Given the description of an element on the screen output the (x, y) to click on. 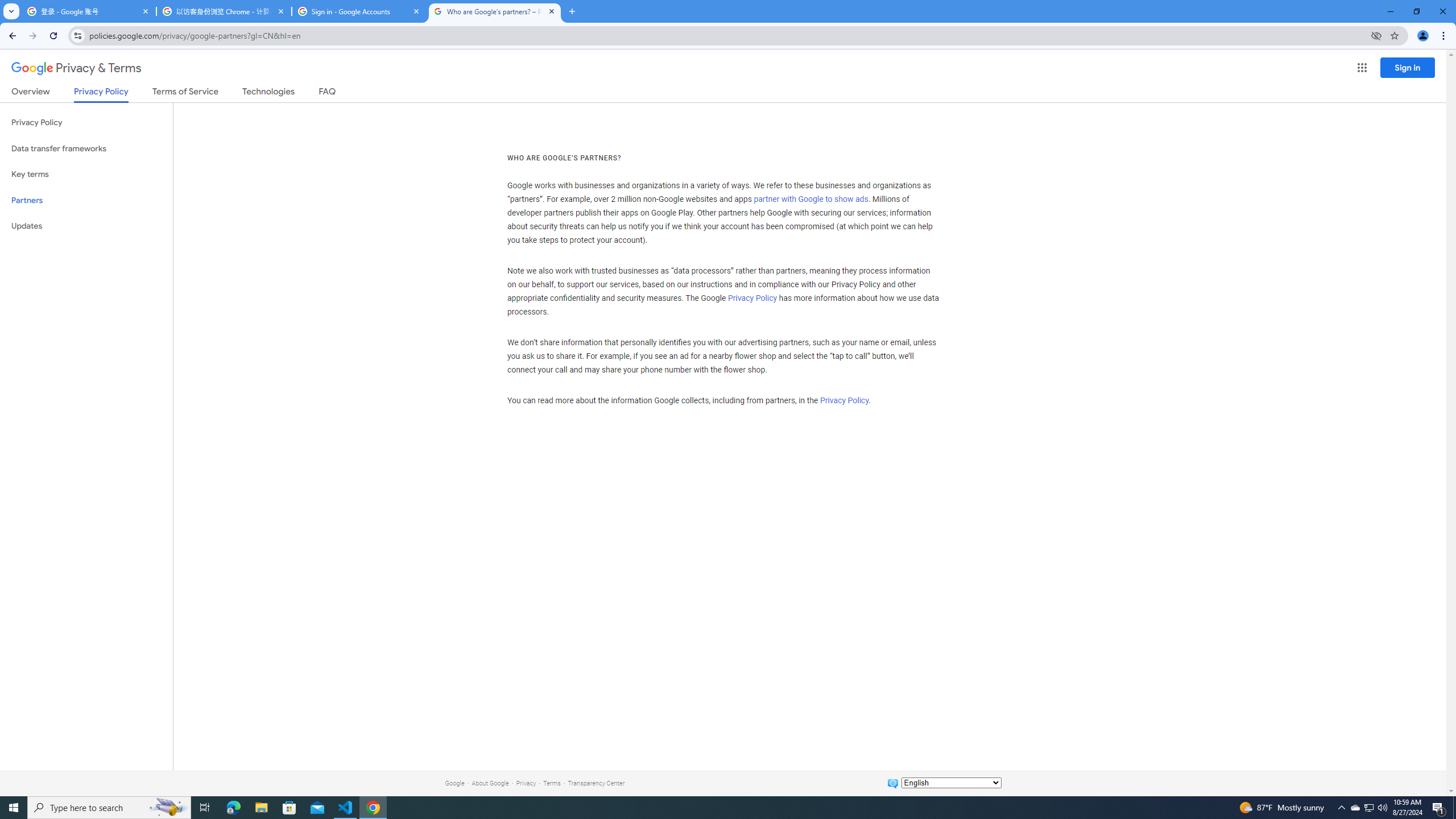
Transparency Center (595, 783)
About Google (490, 783)
partner with Google to show ads (810, 199)
Sign in - Google Accounts (359, 11)
